Given the description of an element on the screen output the (x, y) to click on. 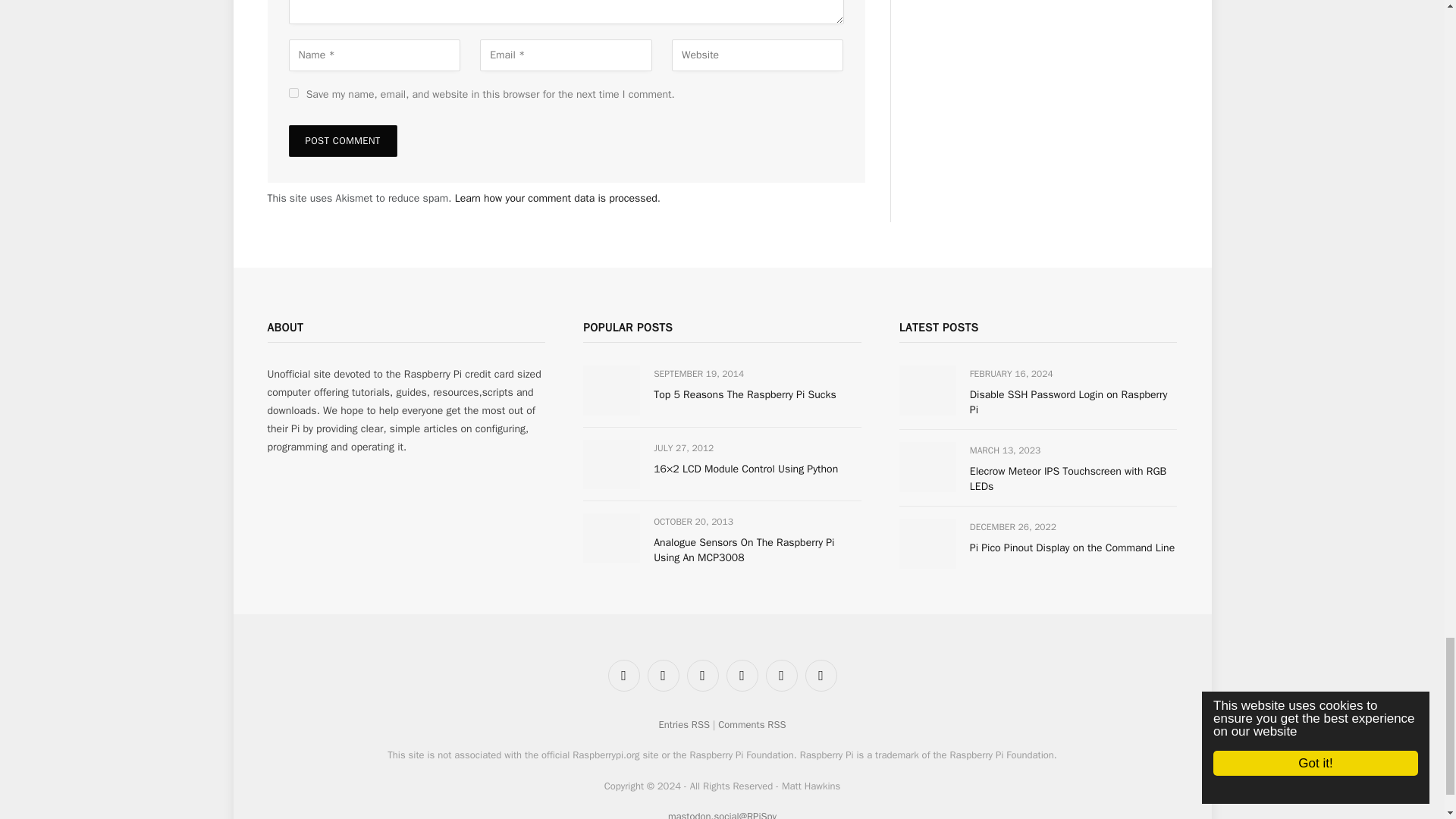
Post Comment (342, 141)
yes (293, 92)
